Given the description of an element on the screen output the (x, y) to click on. 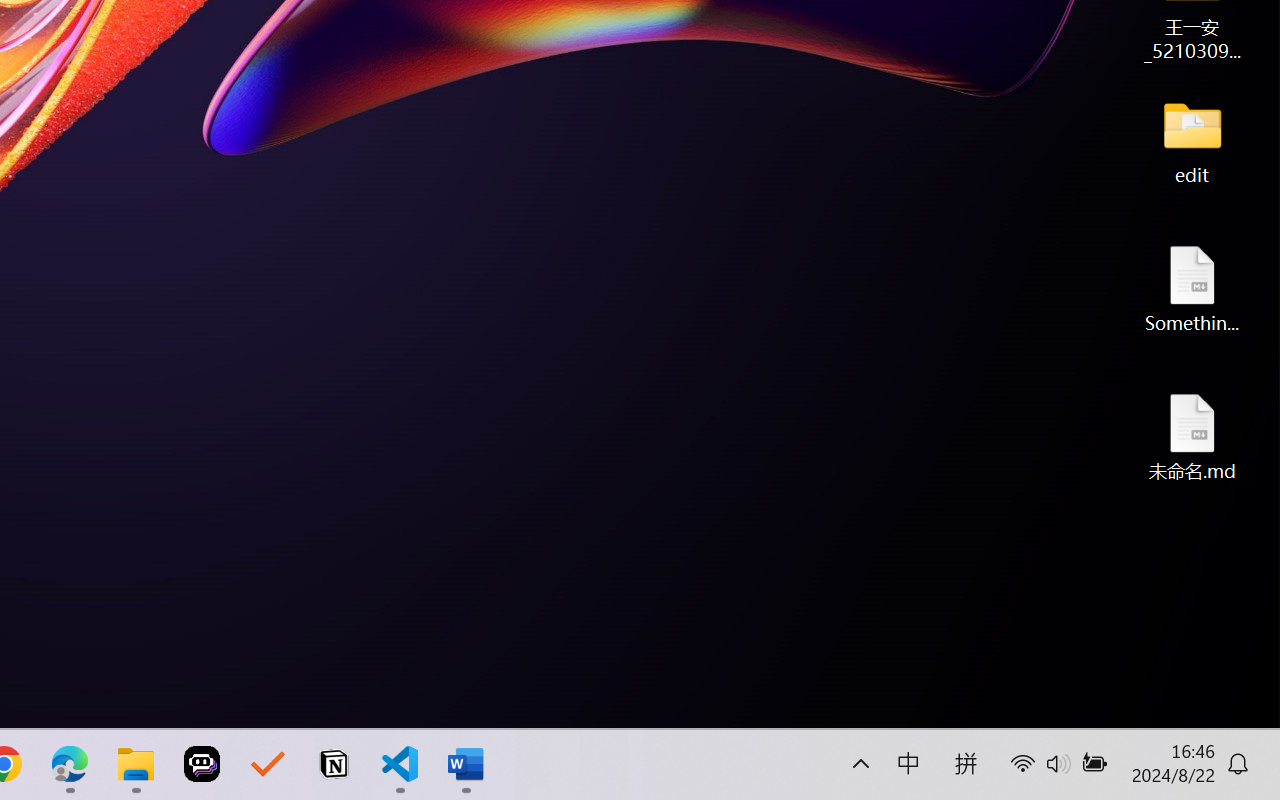
edit (1192, 140)
Something.md (1192, 288)
